Given the description of an element on the screen output the (x, y) to click on. 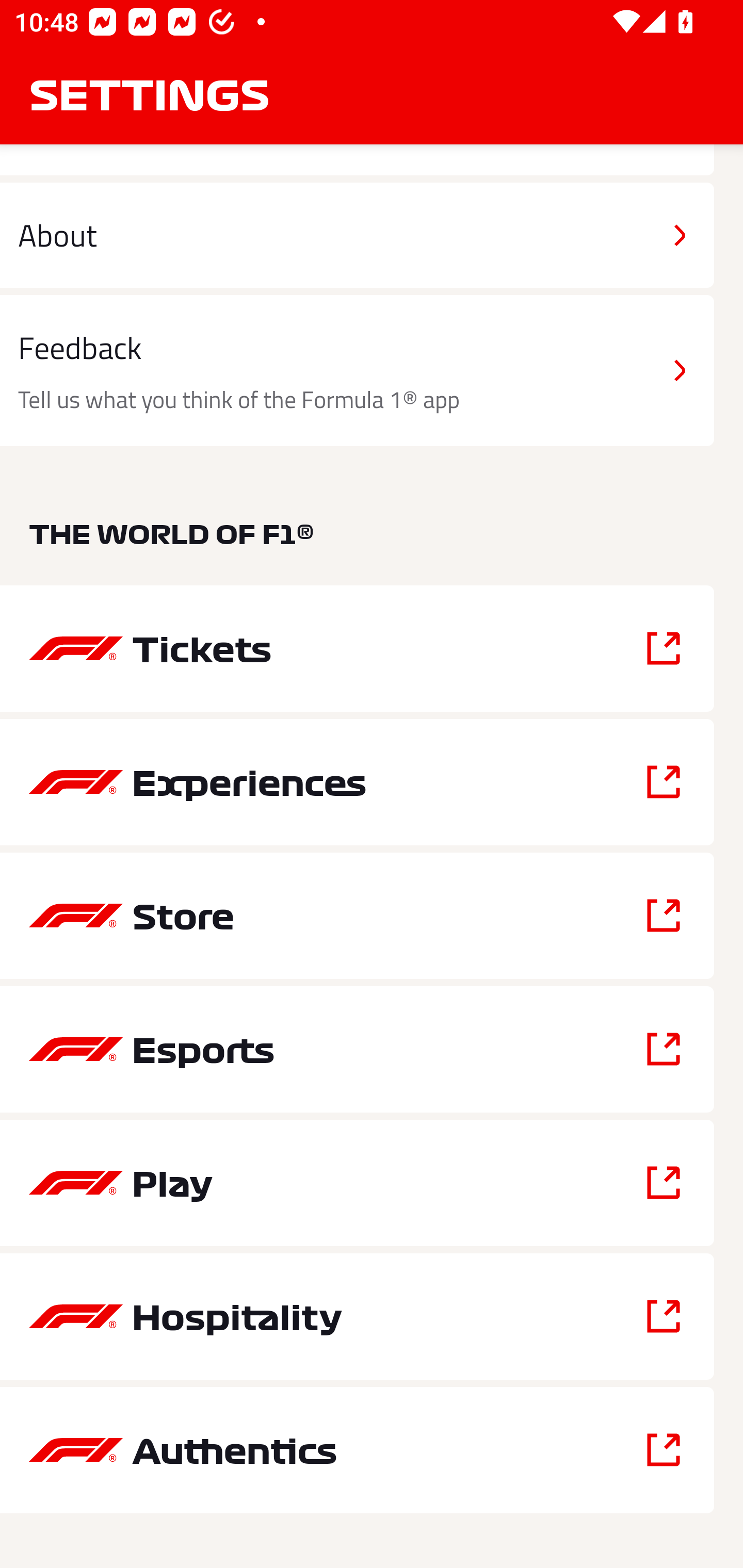
About (357, 234)
Tickets (357, 647)
Experiences (357, 782)
Store (357, 915)
Esports (357, 1049)
Play (357, 1182)
Hospitality (357, 1315)
Authentics (357, 1450)
